Given the description of an element on the screen output the (x, y) to click on. 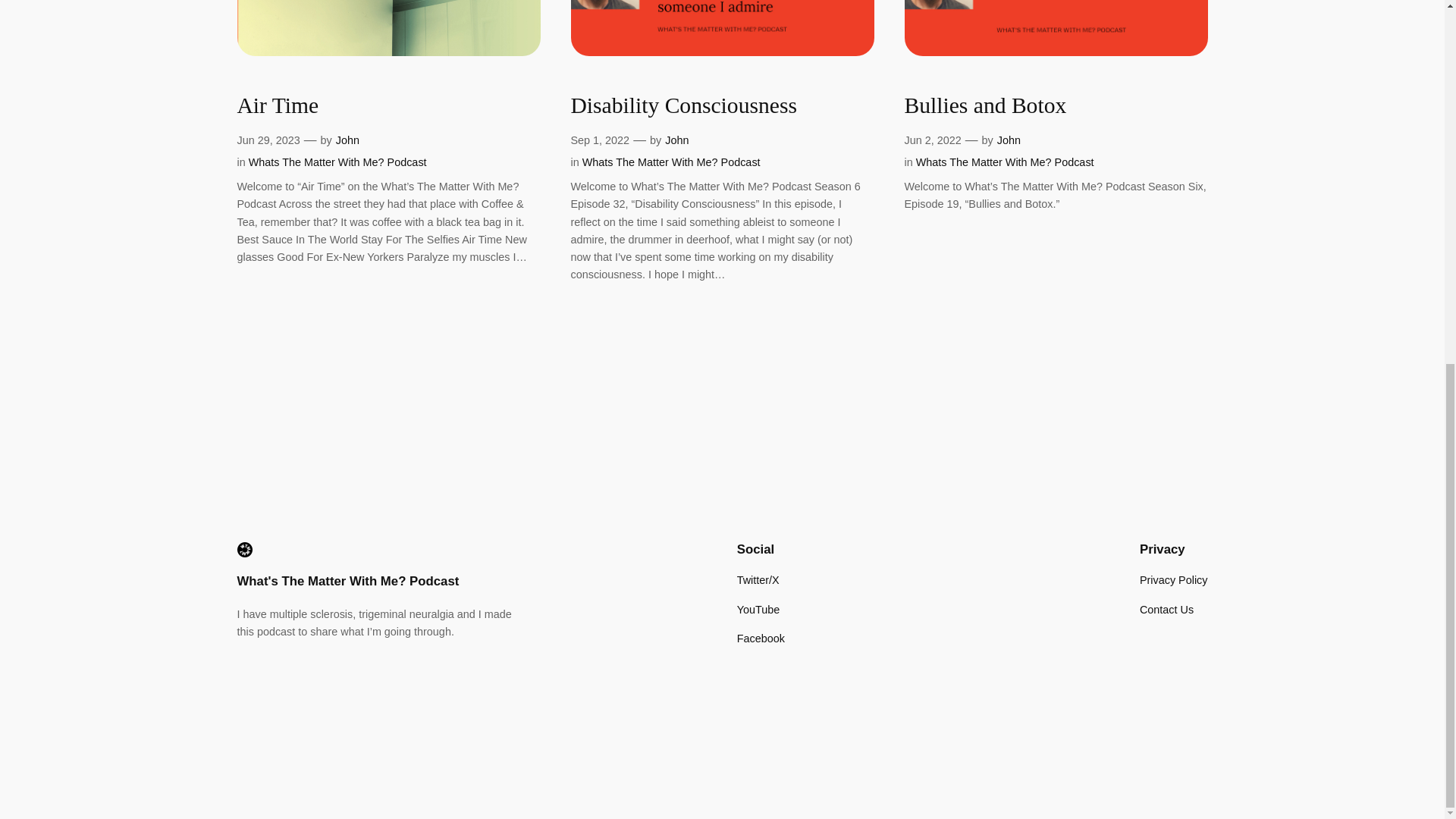
John (1008, 140)
Air Time (276, 105)
John (347, 140)
Sep 1, 2022 (599, 140)
John (676, 140)
Whats The Matter With Me? Podcast (1004, 162)
What's The Matter With Me? Podcast on Facebook (760, 638)
Facebook (760, 638)
Bullies and Botox (984, 105)
Disability Consciousness (683, 105)
